Given the description of an element on the screen output the (x, y) to click on. 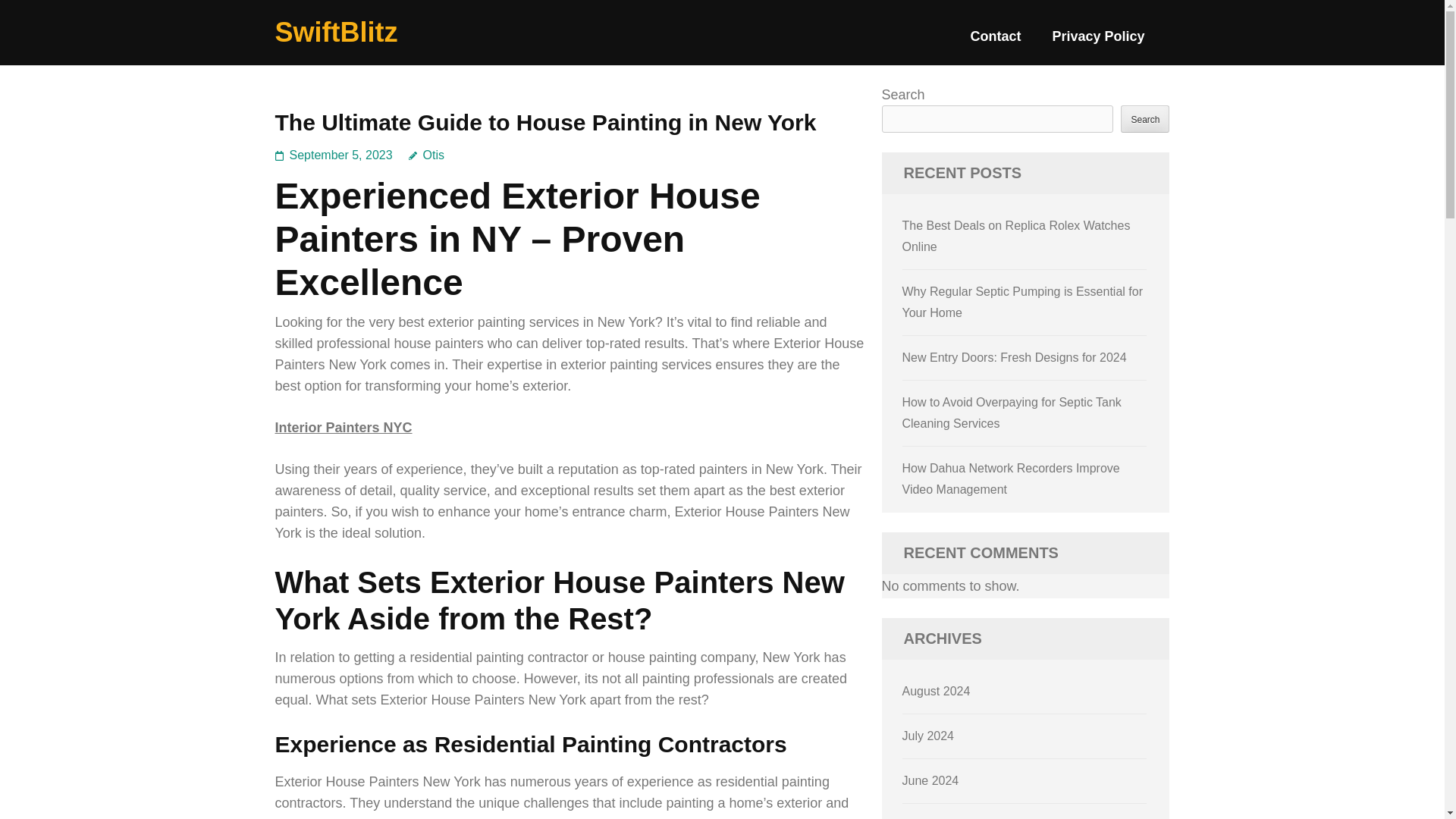
Privacy Policy (1097, 42)
Interior Painters NYC (343, 427)
Contact (994, 42)
New Entry Doors: Fresh Designs for 2024 (1014, 357)
June 2024 (930, 780)
The Best Deals on Replica Rolex Watches Online (1016, 236)
Otis (426, 154)
Search (1145, 118)
How Dahua Network Recorders Improve Video Management (1010, 478)
Why Regular Septic Pumping is Essential for Your Home (1022, 302)
